Given the description of an element on the screen output the (x, y) to click on. 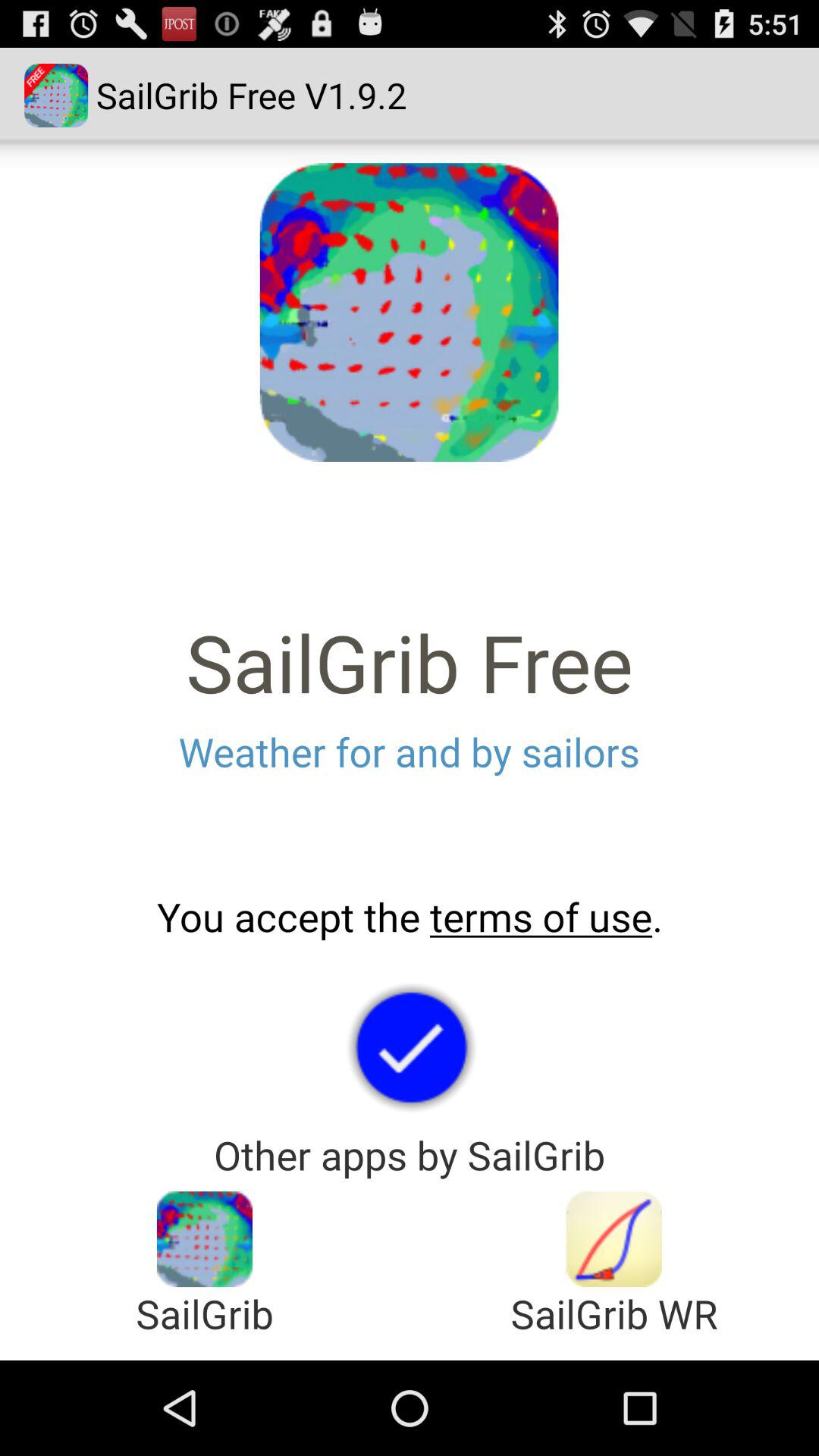
other app sail grib wr (614, 1239)
